Given the description of an element on the screen output the (x, y) to click on. 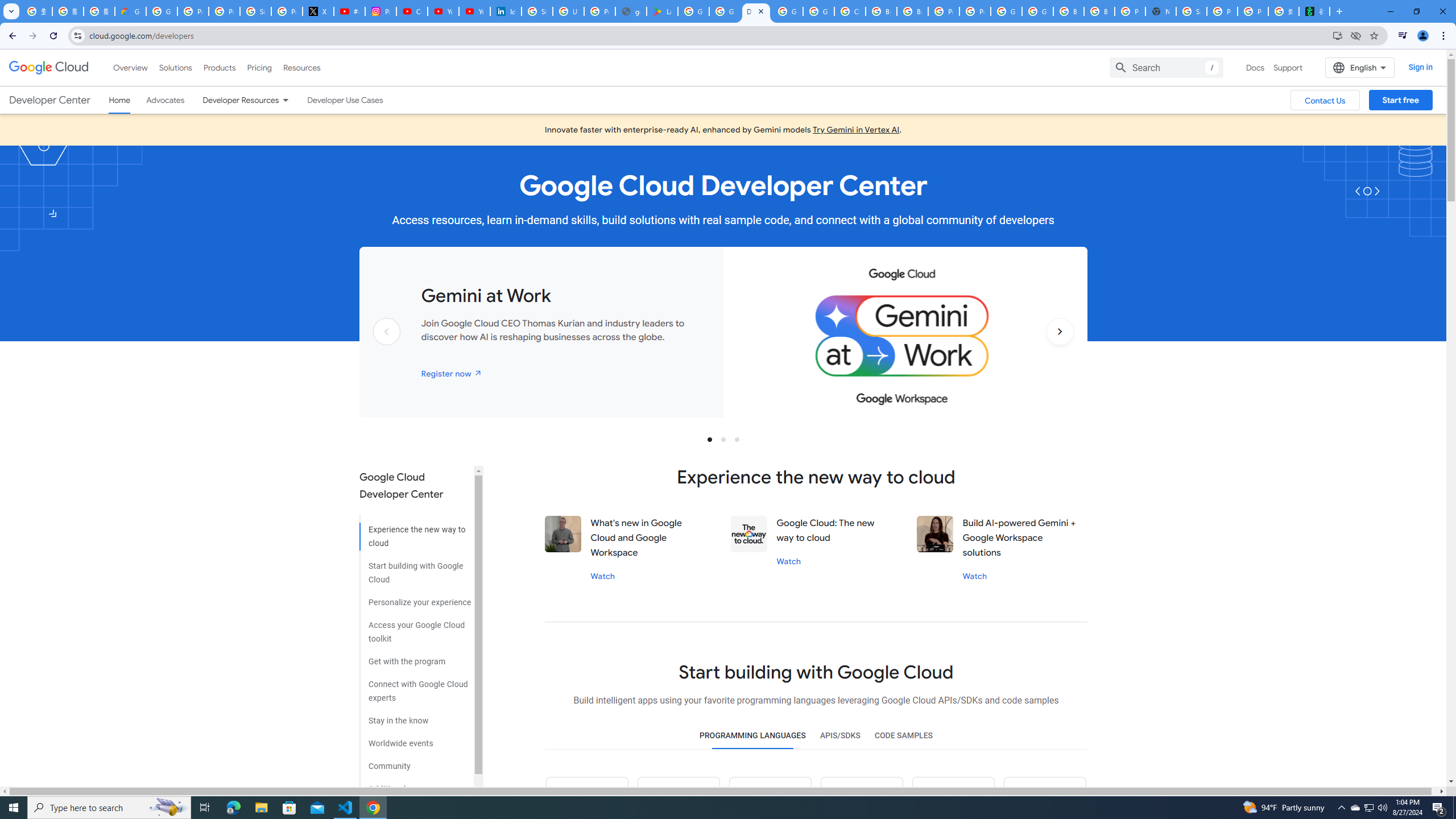
APIS/SDKS (839, 735)
Last Shelter: Survival - Apps on Google Play (662, 11)
